Given the description of an element on the screen output the (x, y) to click on. 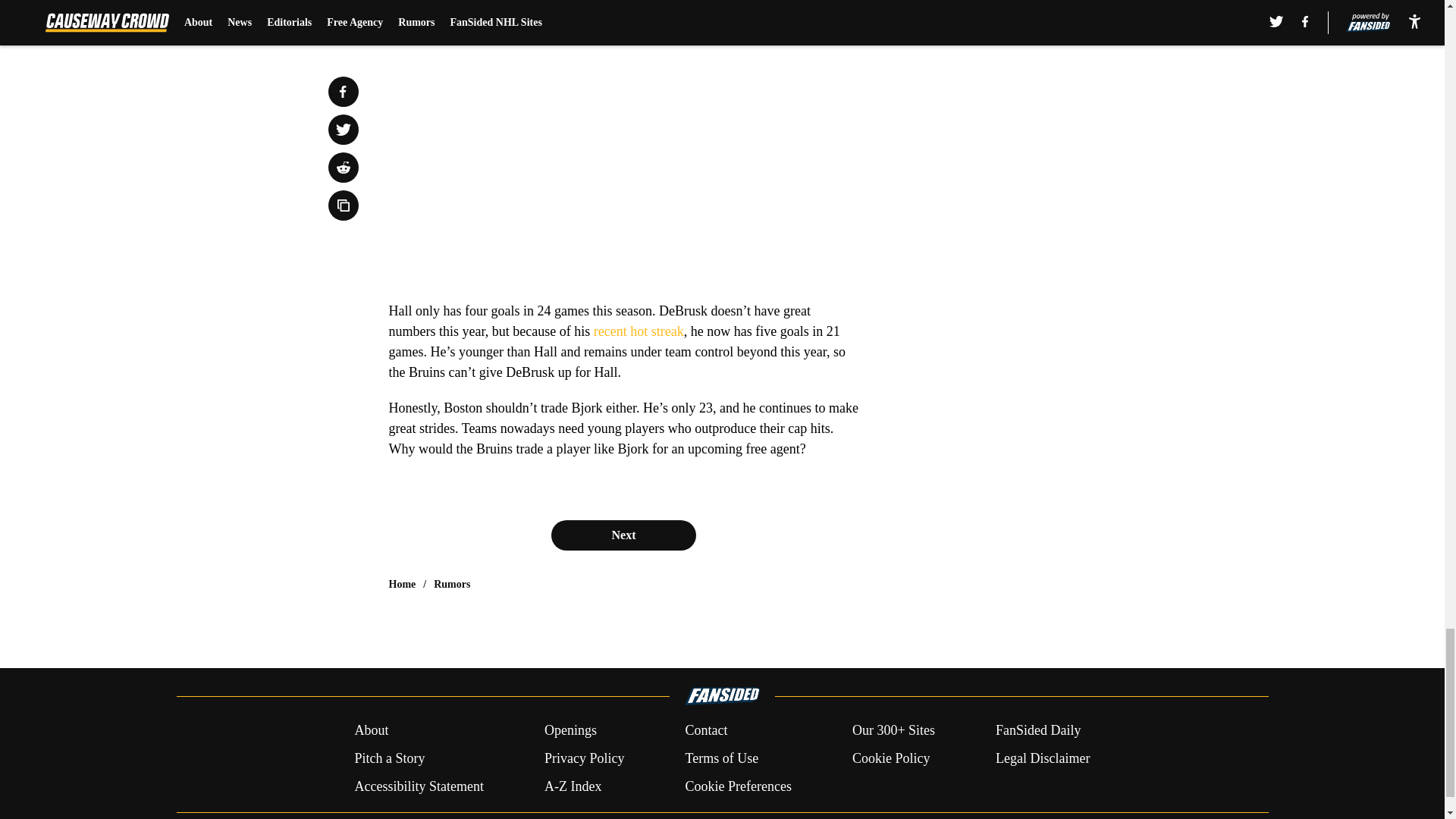
Next (622, 535)
Home (401, 584)
About (370, 730)
recent hot streak (639, 331)
Rumors (451, 584)
Openings (570, 730)
Contact (705, 730)
